Given the description of an element on the screen output the (x, y) to click on. 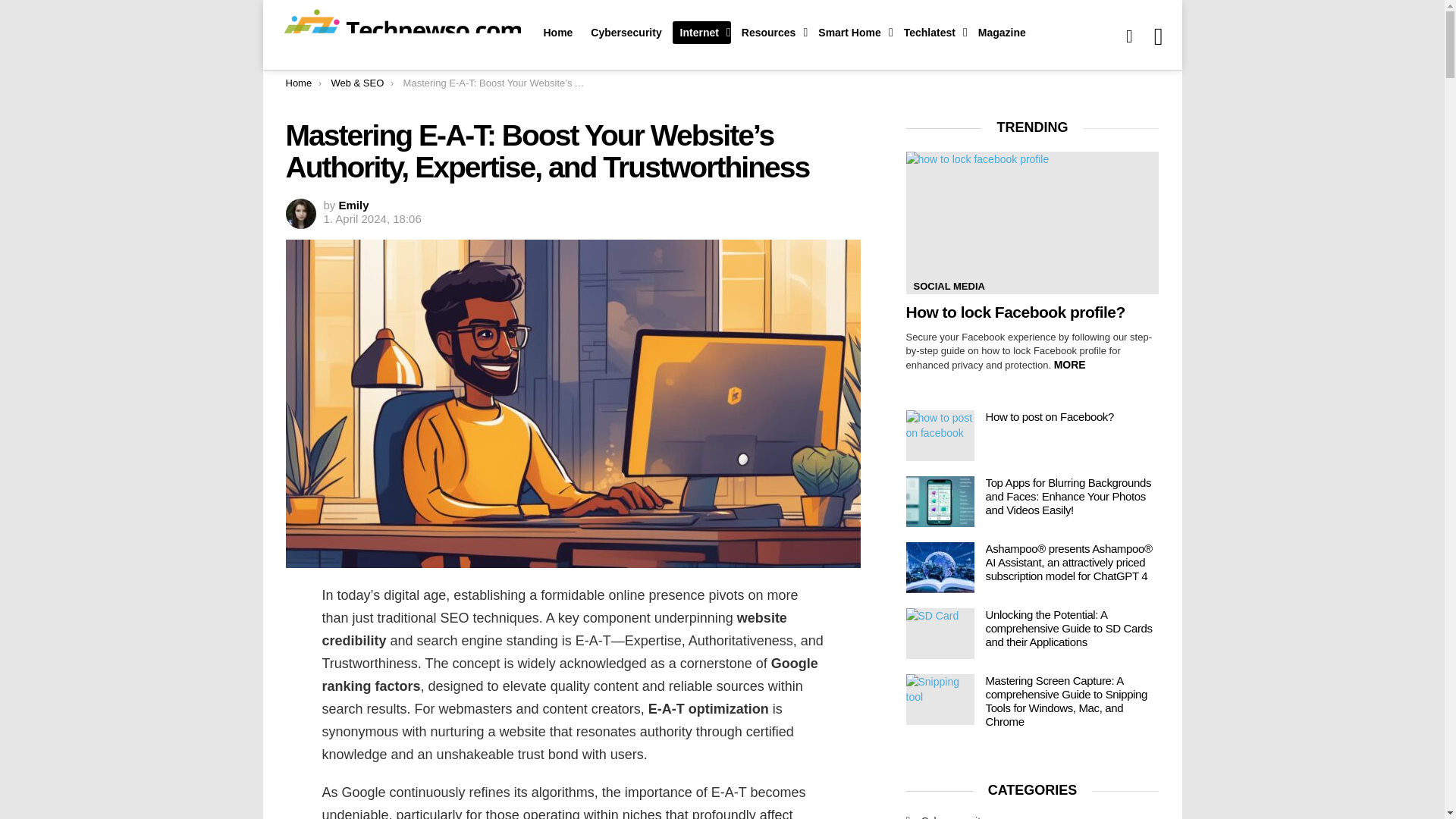
How to lock Facebook profile? (1031, 222)
Posts by Emily (354, 205)
Techlatest (932, 32)
Resources (770, 32)
Magazine (1002, 32)
Cybersecurity (625, 32)
Smart Home (851, 32)
Home (298, 82)
Emily (354, 205)
Home (557, 32)
How to post on Facebook? (939, 435)
Internet (701, 32)
